Given the description of an element on the screen output the (x, y) to click on. 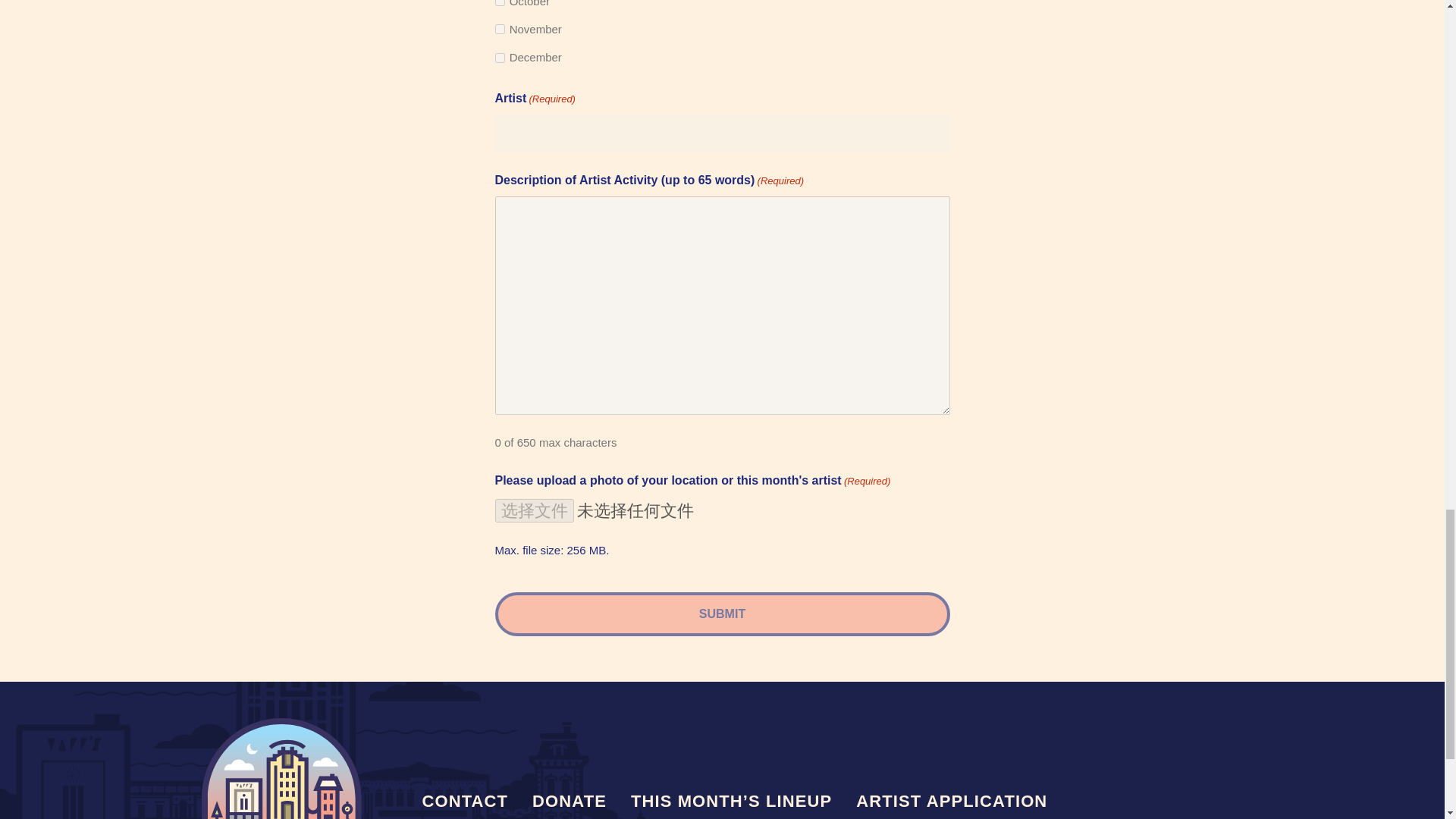
Submit (722, 614)
Submit (722, 614)
December (499, 58)
ARTIST APPLICATION (951, 800)
CONTACT (464, 800)
November (499, 29)
DONATE (568, 800)
October (499, 2)
